Given the description of an element on the screen output the (x, y) to click on. 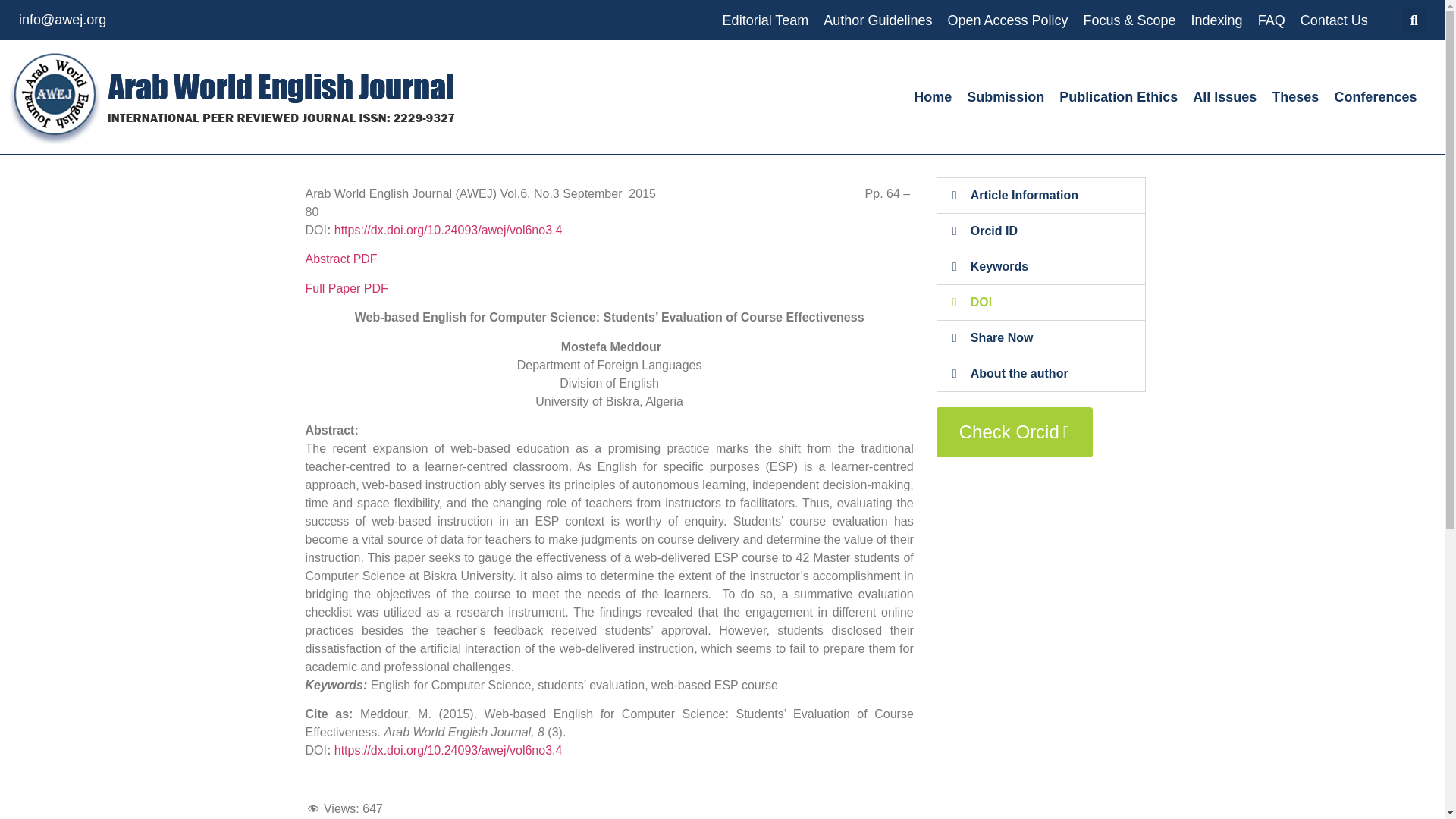
Contact Us (1333, 19)
FAQ (1271, 19)
Author Guidelines (877, 19)
Editorial Team (765, 19)
Open Access Policy (1007, 19)
Indexing (1216, 19)
